Given the description of an element on the screen output the (x, y) to click on. 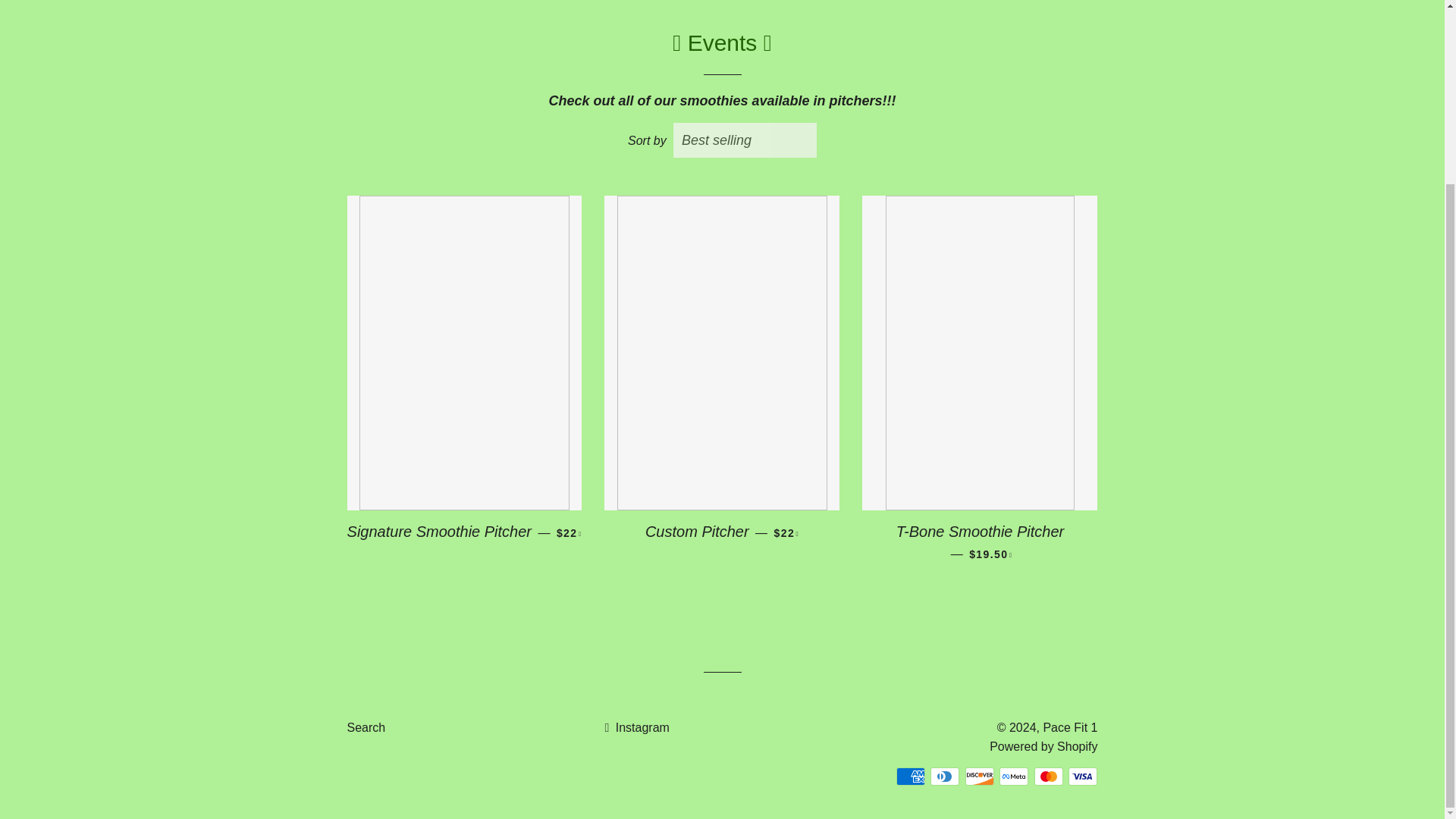
Discover (979, 776)
Search (366, 726)
Instagram (636, 726)
Mastercard (1047, 776)
Powered by Shopify (1043, 746)
Visa (1082, 776)
Pace Fit 1 (1069, 726)
Diners Club (944, 776)
American Express (910, 776)
Meta Pay (1012, 776)
